Given the description of an element on the screen output the (x, y) to click on. 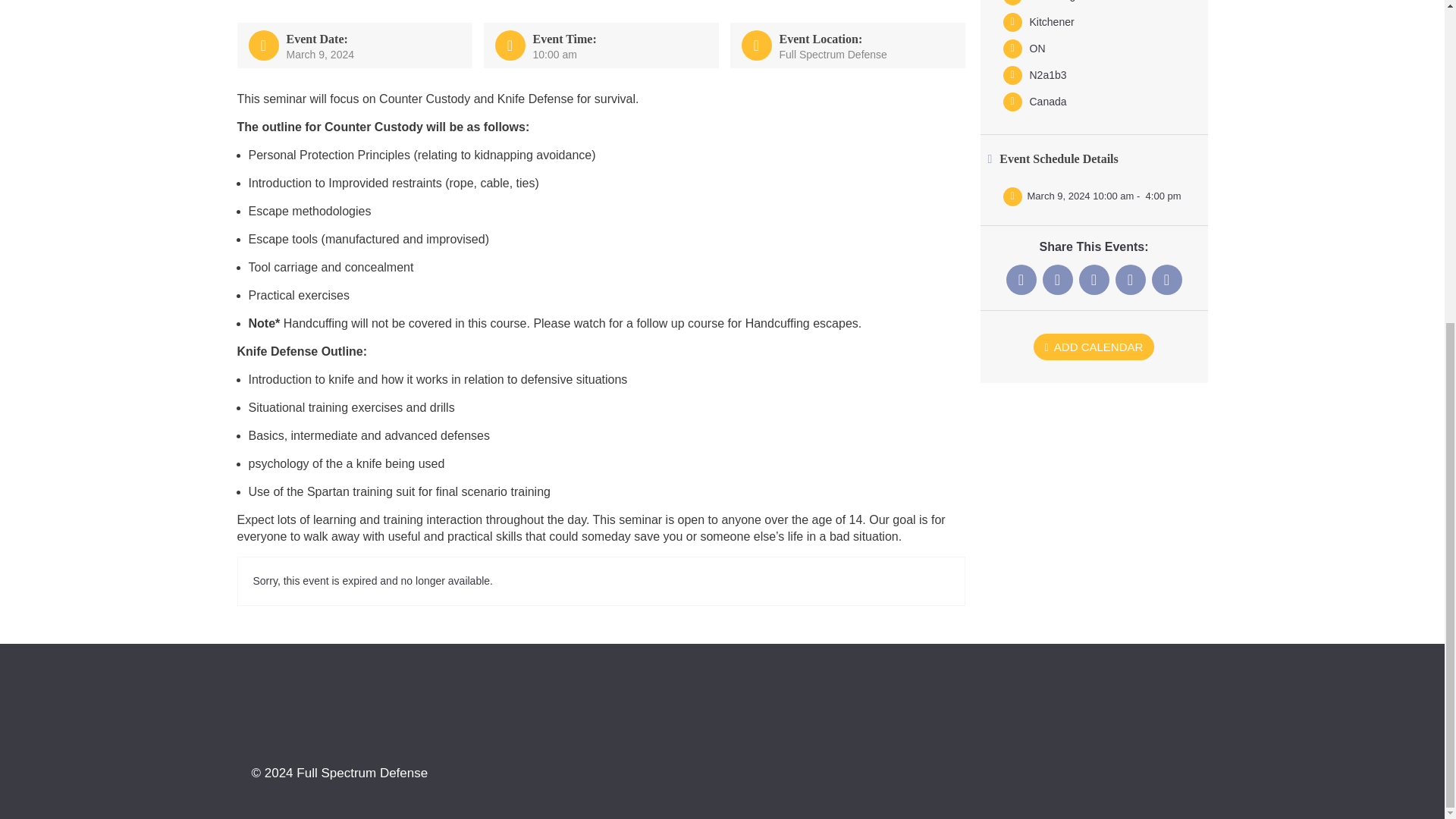
Share by Email (1165, 279)
